Given the description of an element on the screen output the (x, y) to click on. 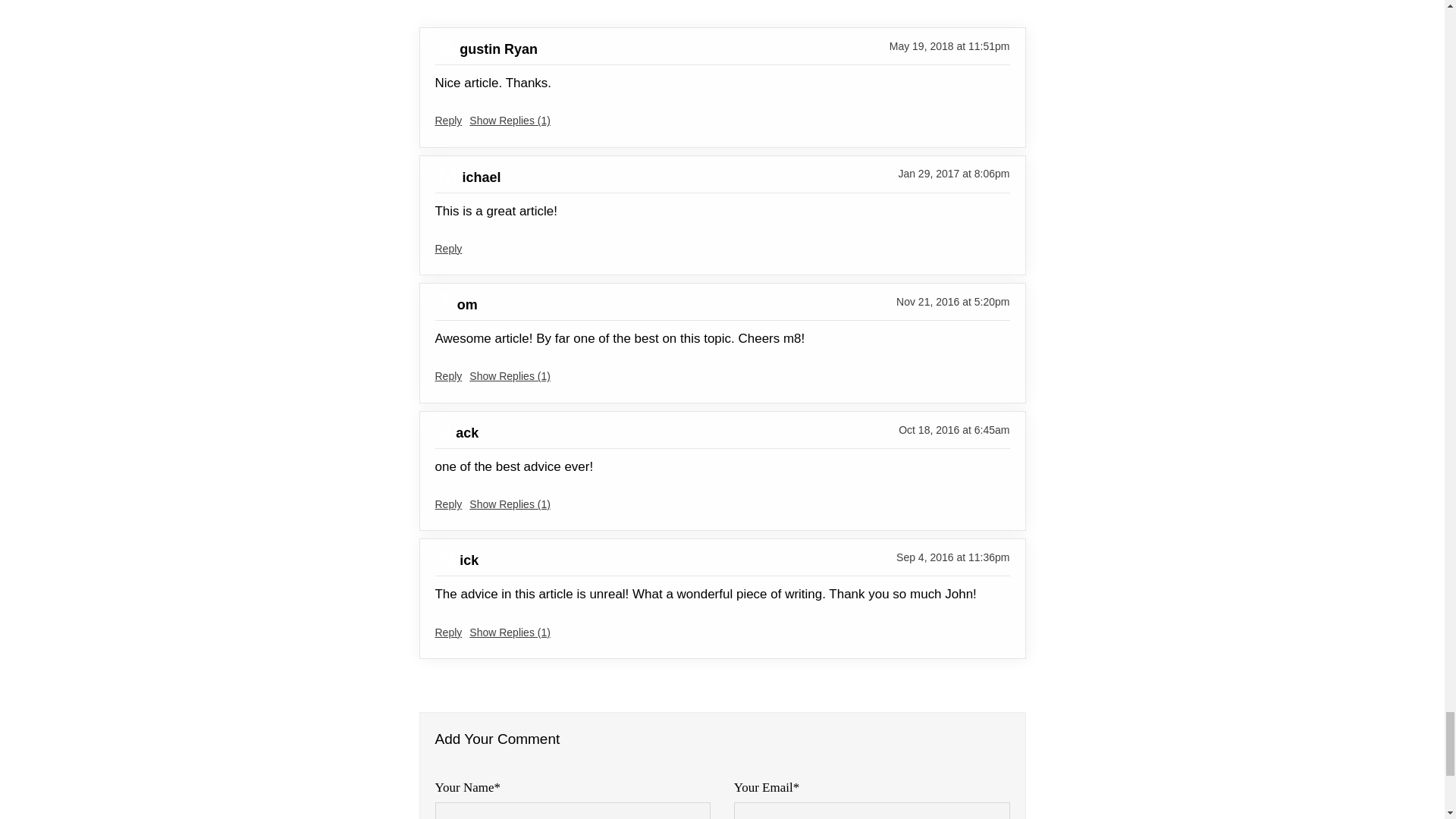
Reply (449, 503)
Reply (449, 120)
Reply (449, 376)
Jan 29, 2017 at 8:06pm (953, 173)
May 19, 2018 at 11:51pm (949, 45)
Nov 21, 2016 at 5:20pm (952, 301)
Oct 18, 2016 at 6:45am (953, 429)
Reply (449, 248)
